Given the description of an element on the screen output the (x, y) to click on. 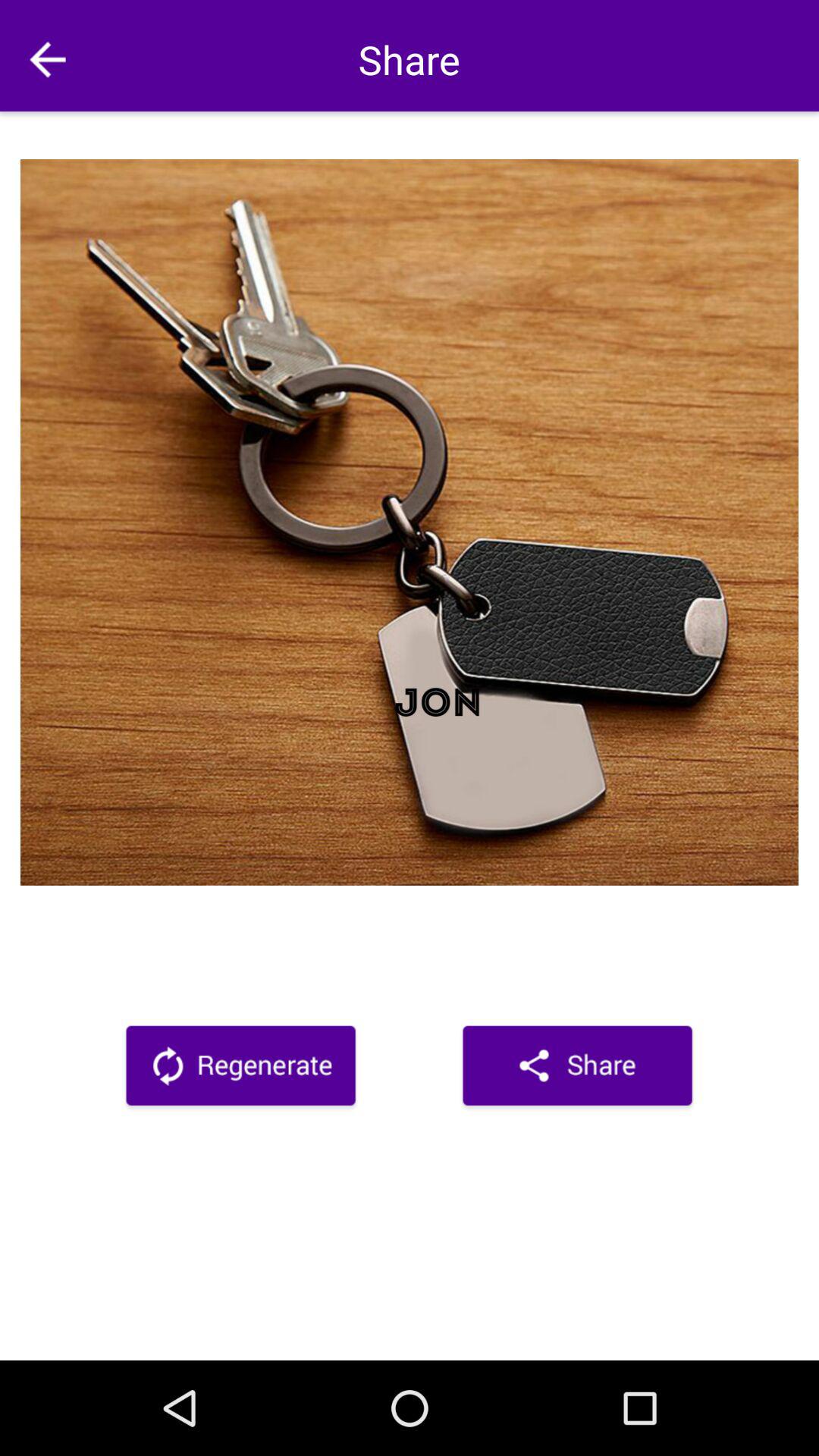
refresh picture (240, 1068)
